Given the description of an element on the screen output the (x, y) to click on. 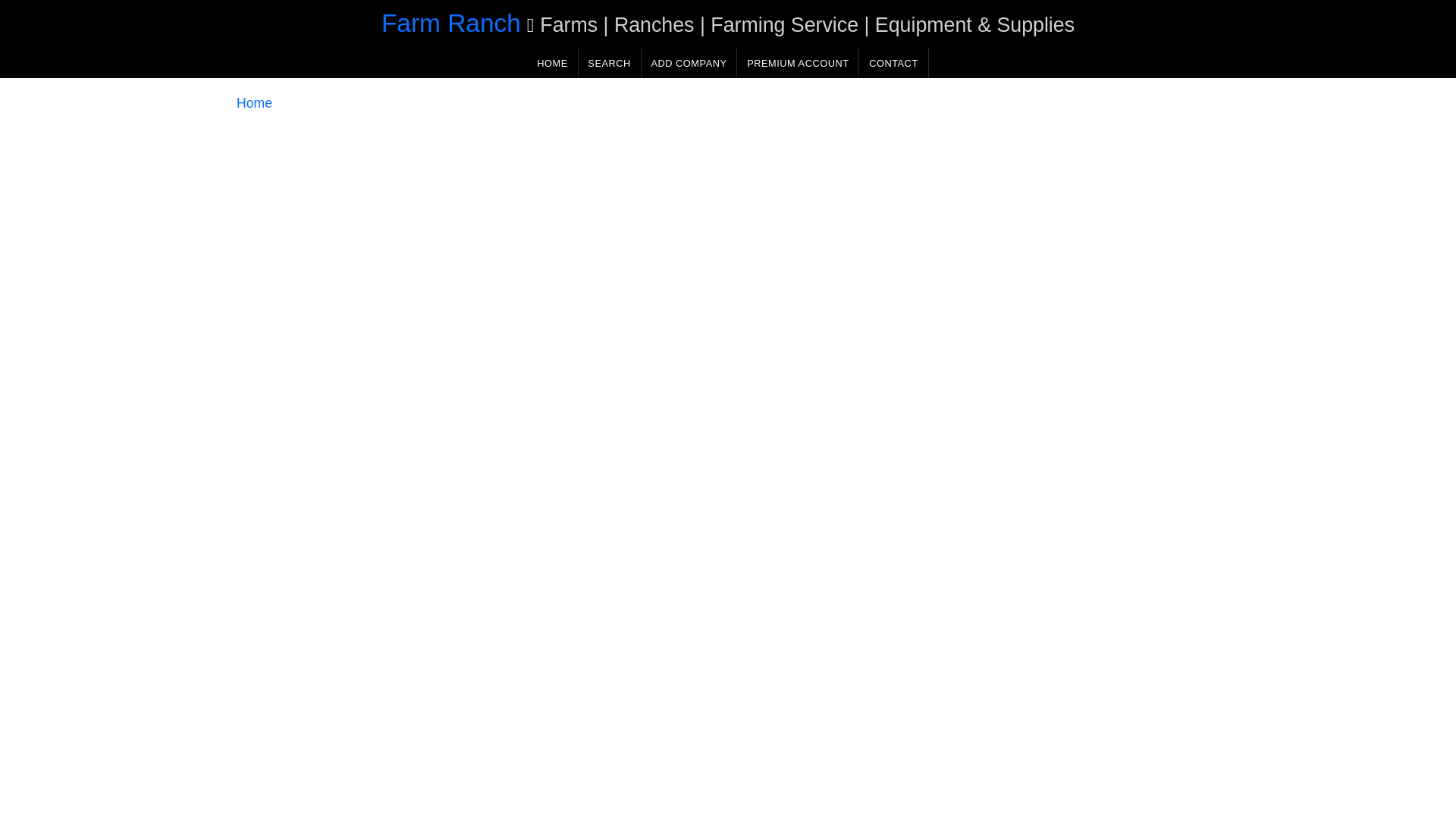
Home (253, 102)
SEARCH (609, 62)
Premium account (797, 62)
HOME (551, 62)
ADD COMPANY (689, 62)
CONTACT (893, 62)
Farm Ranch (451, 22)
PREMIUM ACCOUNT (797, 62)
Search in this webseite. (609, 62)
